Given the description of an element on the screen output the (x, y) to click on. 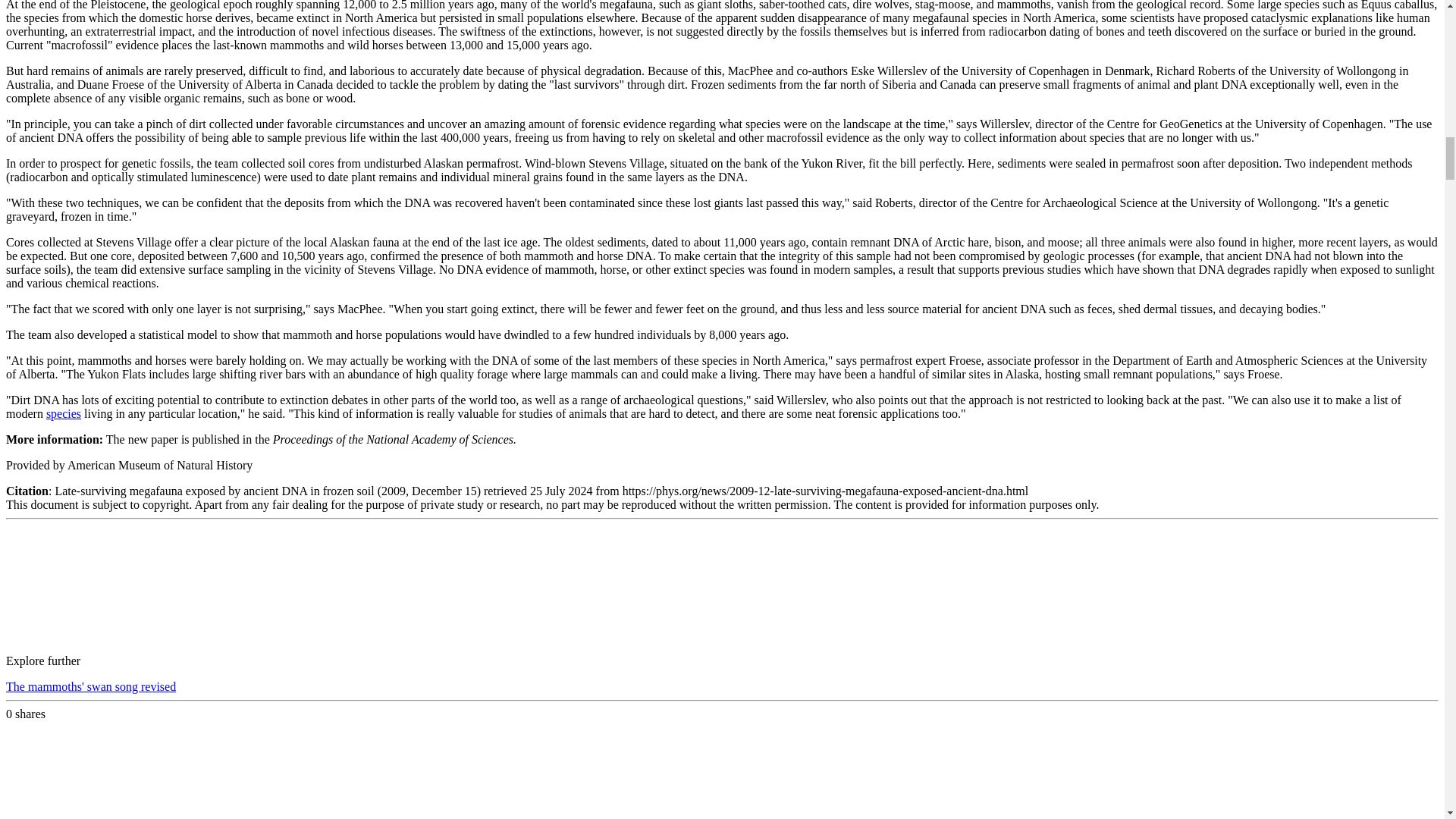
The mammoths' swan song revised (90, 686)
species (63, 413)
0 shares (25, 713)
